Given the description of an element on the screen output the (x, y) to click on. 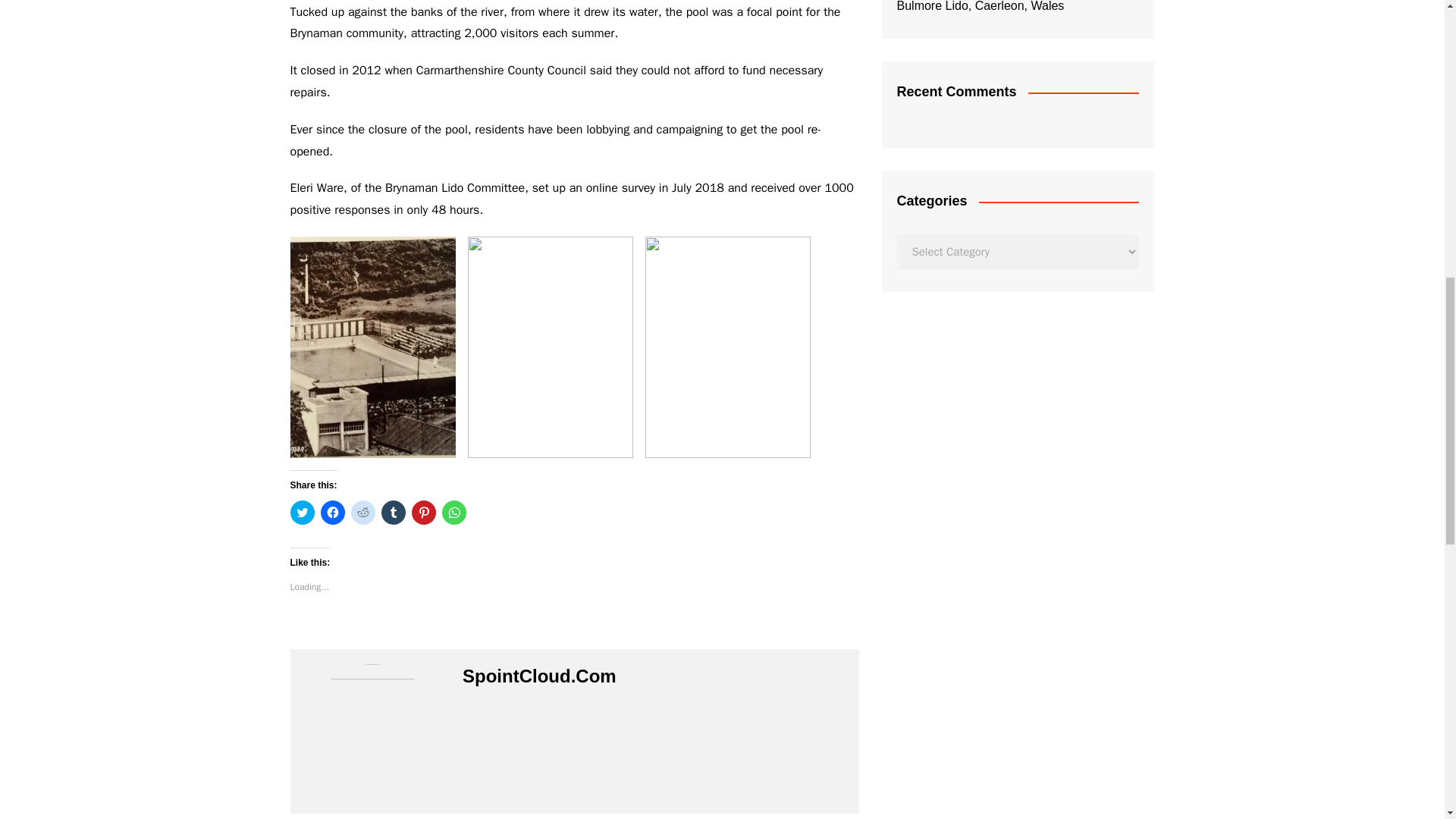
Click to share on Facebook (331, 512)
Click to share on Twitter (301, 512)
Click to share on Pinterest (422, 512)
Click to share on WhatsApp (453, 512)
Click to share on Tumblr (392, 512)
Click to share on Reddit (362, 512)
